Given the description of an element on the screen output the (x, y) to click on. 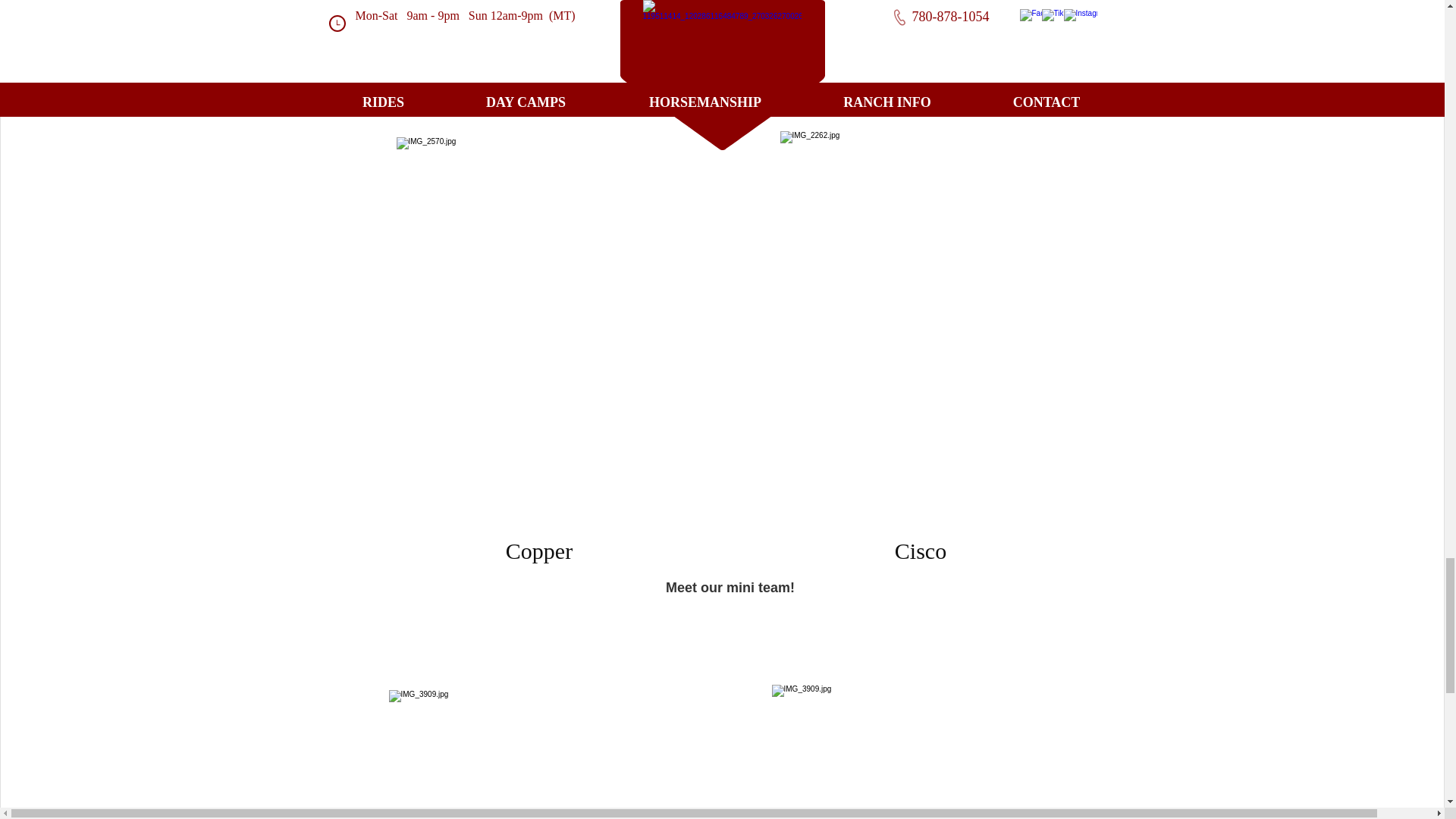
guy2.jpg (913, 751)
guy2.jpg (920, 329)
guy2.jpg (537, 335)
guy2.jpg (529, 754)
